Given the description of an element on the screen output the (x, y) to click on. 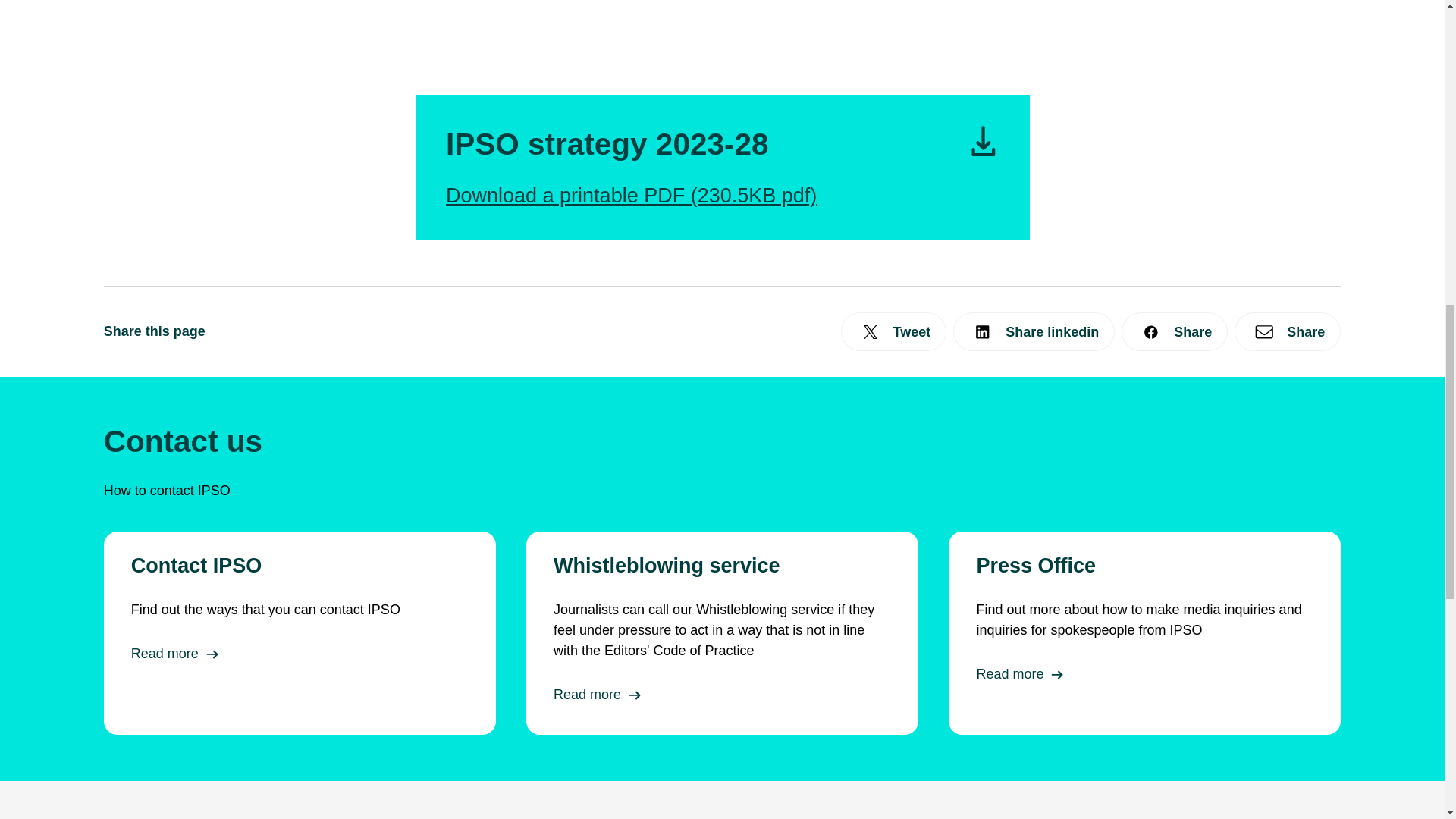
Tweet (894, 331)
Share on Facebook (1174, 331)
Share on LinkedIn (1034, 331)
Share linkedin (1034, 331)
Share via Email (1287, 331)
Tweet this page (894, 331)
Share (1174, 331)
